Given the description of an element on the screen output the (x, y) to click on. 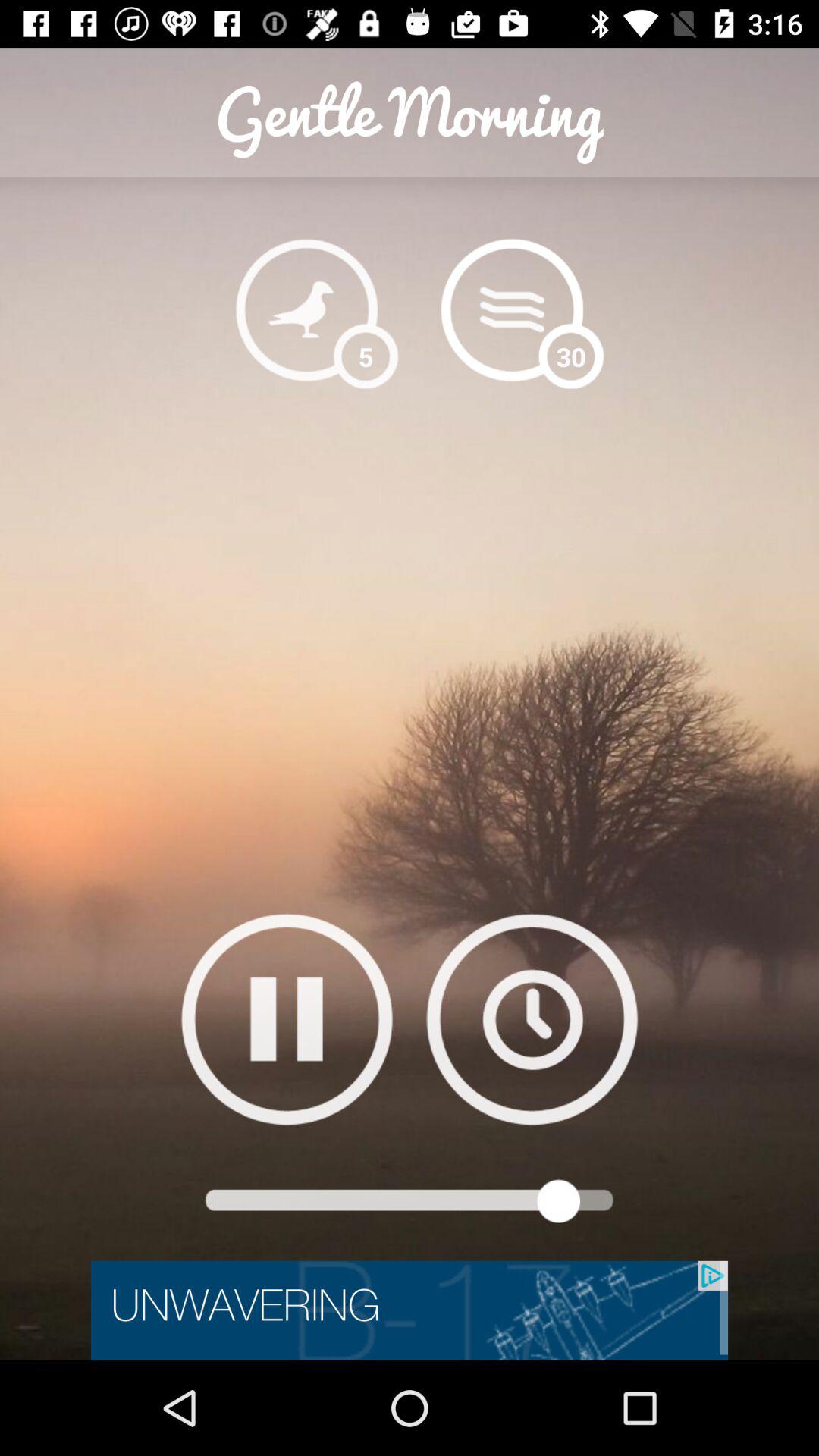
pause (286, 1018)
